Given the description of an element on the screen output the (x, y) to click on. 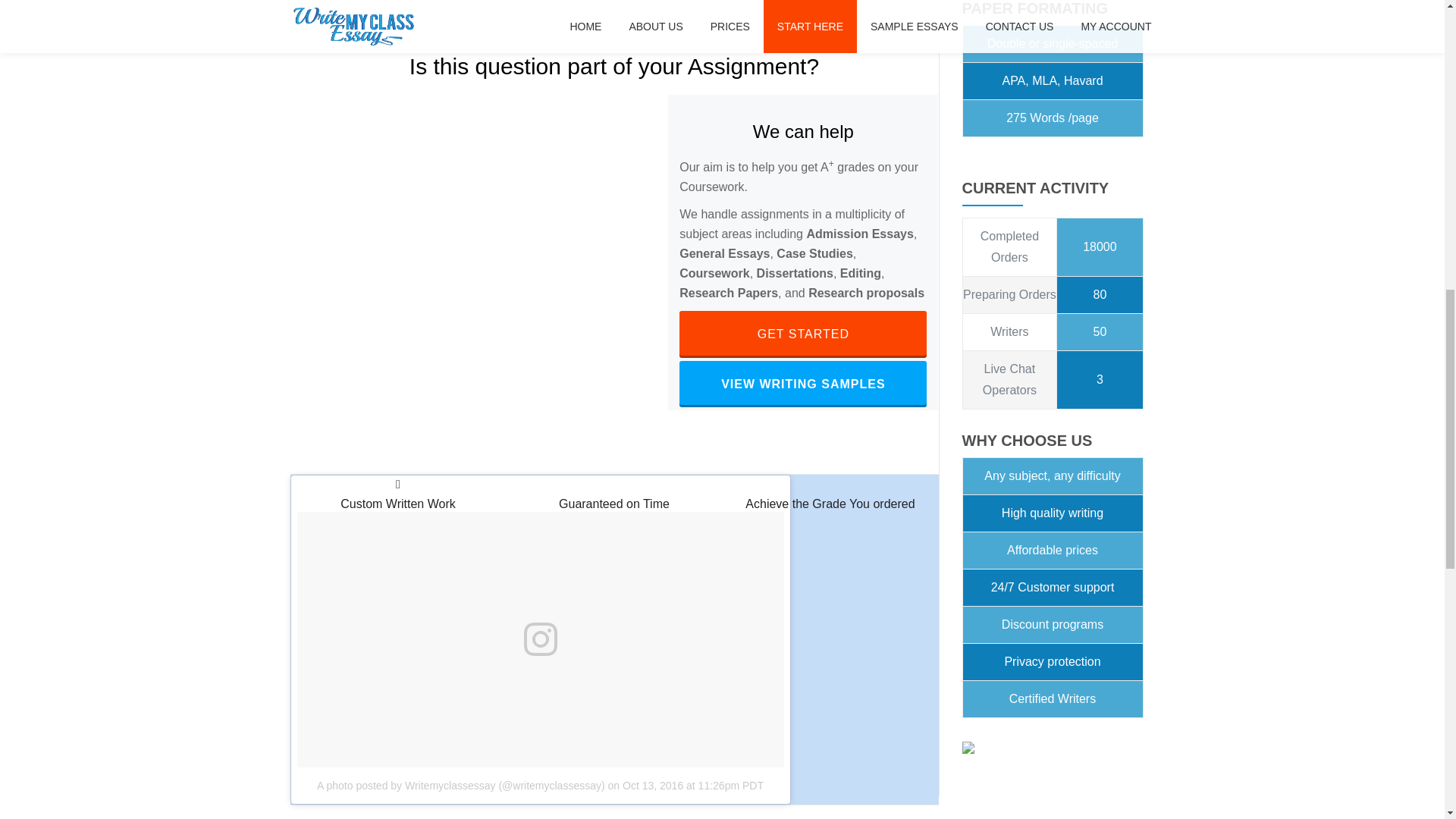
 View Client Testimonials (967, 746)
